Given the description of an element on the screen output the (x, y) to click on. 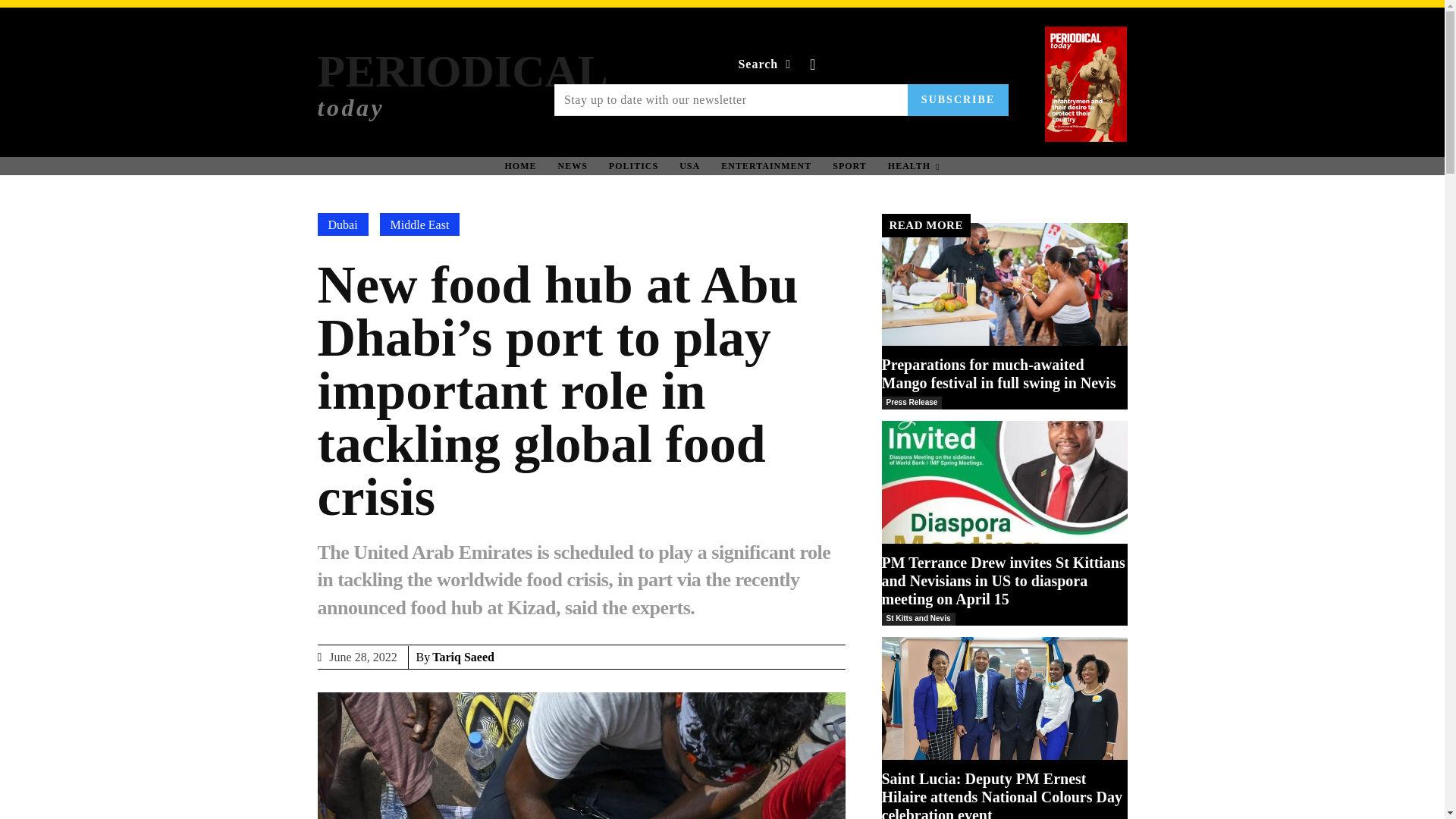
USA (689, 166)
SUBSCRIBE (958, 100)
HOME (521, 166)
Search (767, 64)
POLITICS (462, 83)
ENTERTAINMENT (633, 166)
NEWS (766, 166)
SPORT (572, 166)
HEALTH (849, 166)
